Given the description of an element on the screen output the (x, y) to click on. 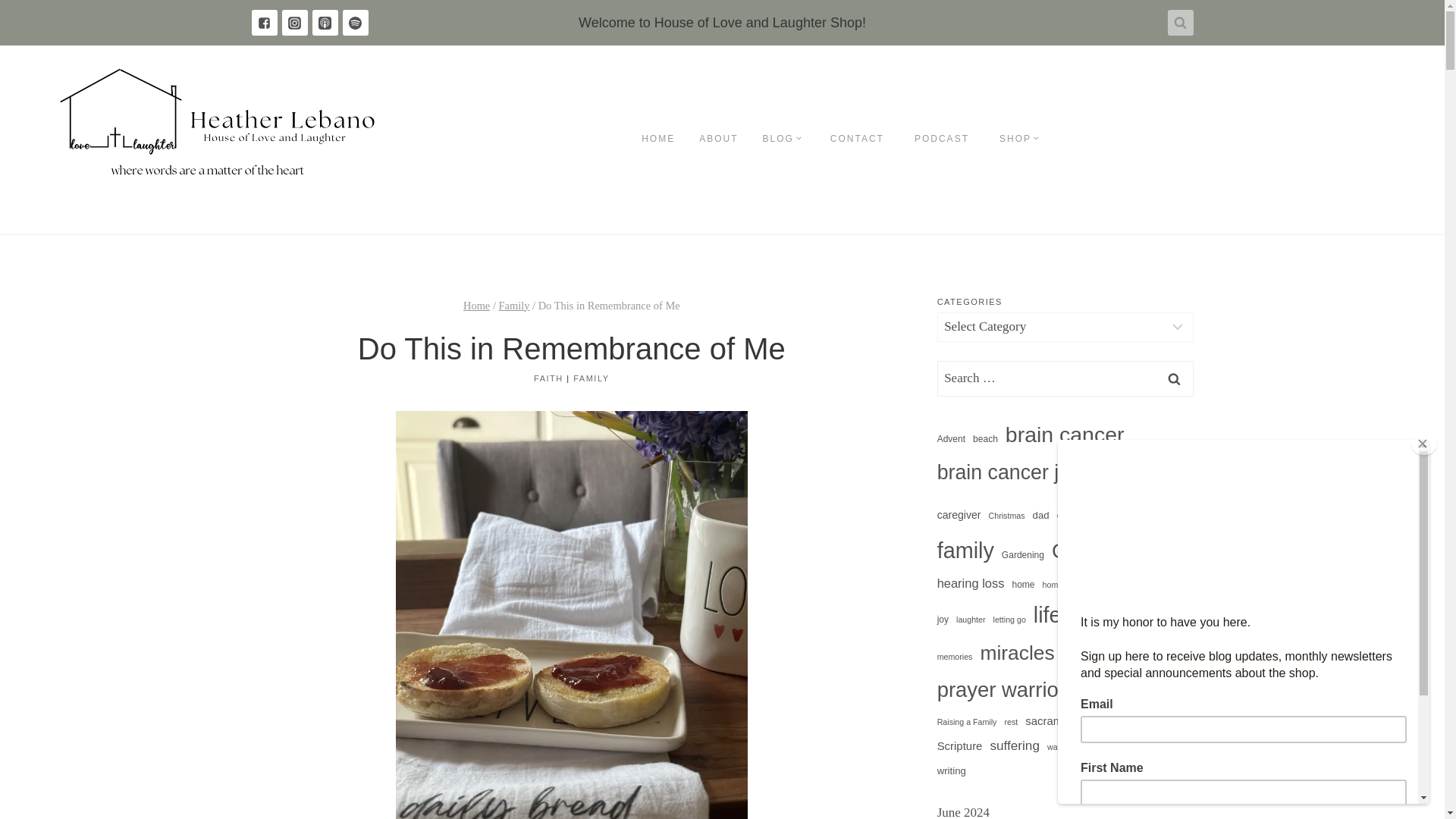
FAITH (548, 378)
SHOP (1019, 139)
Search (1174, 378)
Family (514, 304)
PODCAST (941, 139)
Search (1174, 378)
CONTACT (857, 139)
Home (476, 304)
